Given the description of an element on the screen output the (x, y) to click on. 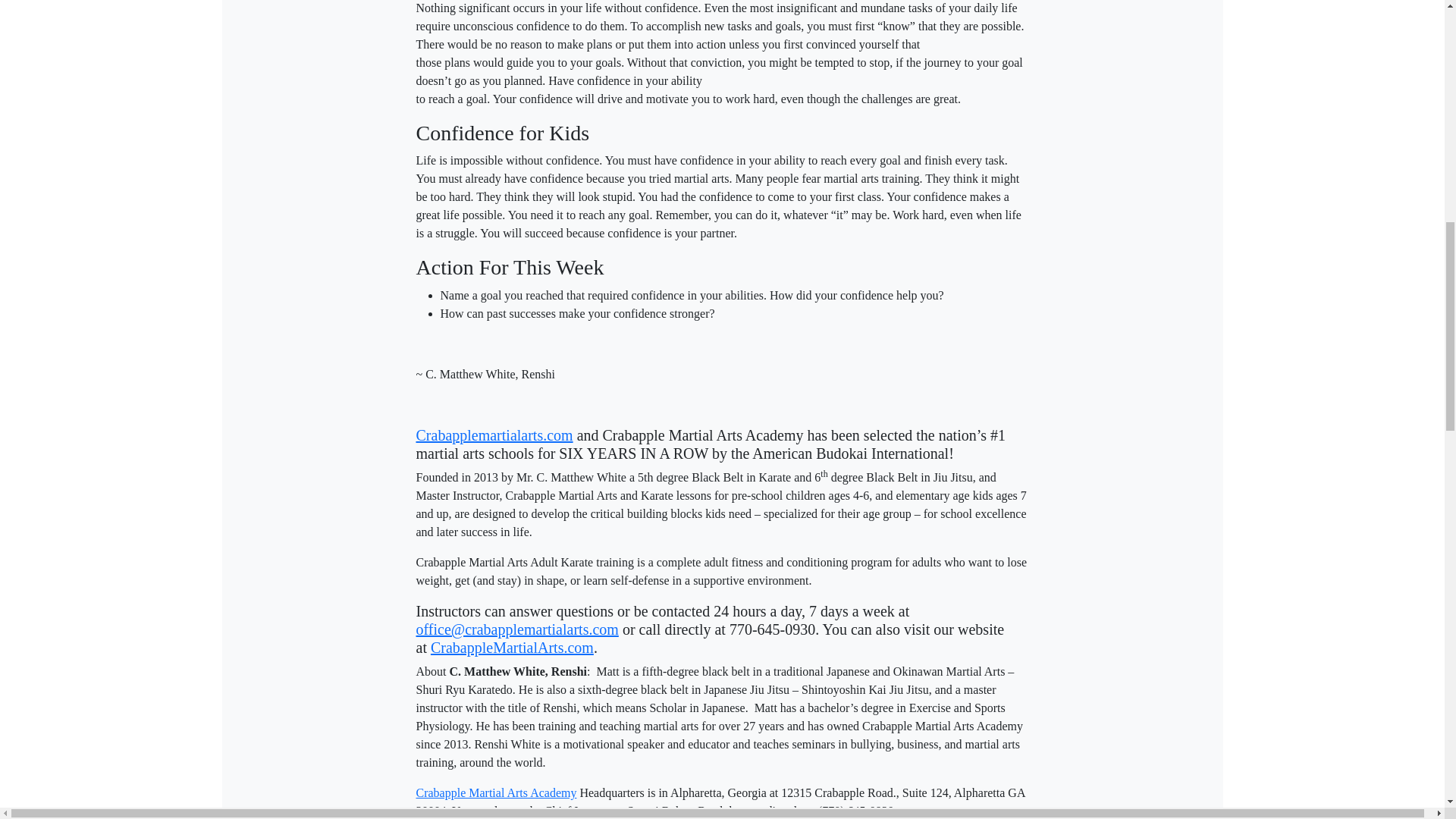
CrabappleMartialArts.com (512, 647)
Crabapple Martial Arts Academy (495, 792)
Crabapplemartialarts.com (493, 434)
